Given the description of an element on the screen output the (x, y) to click on. 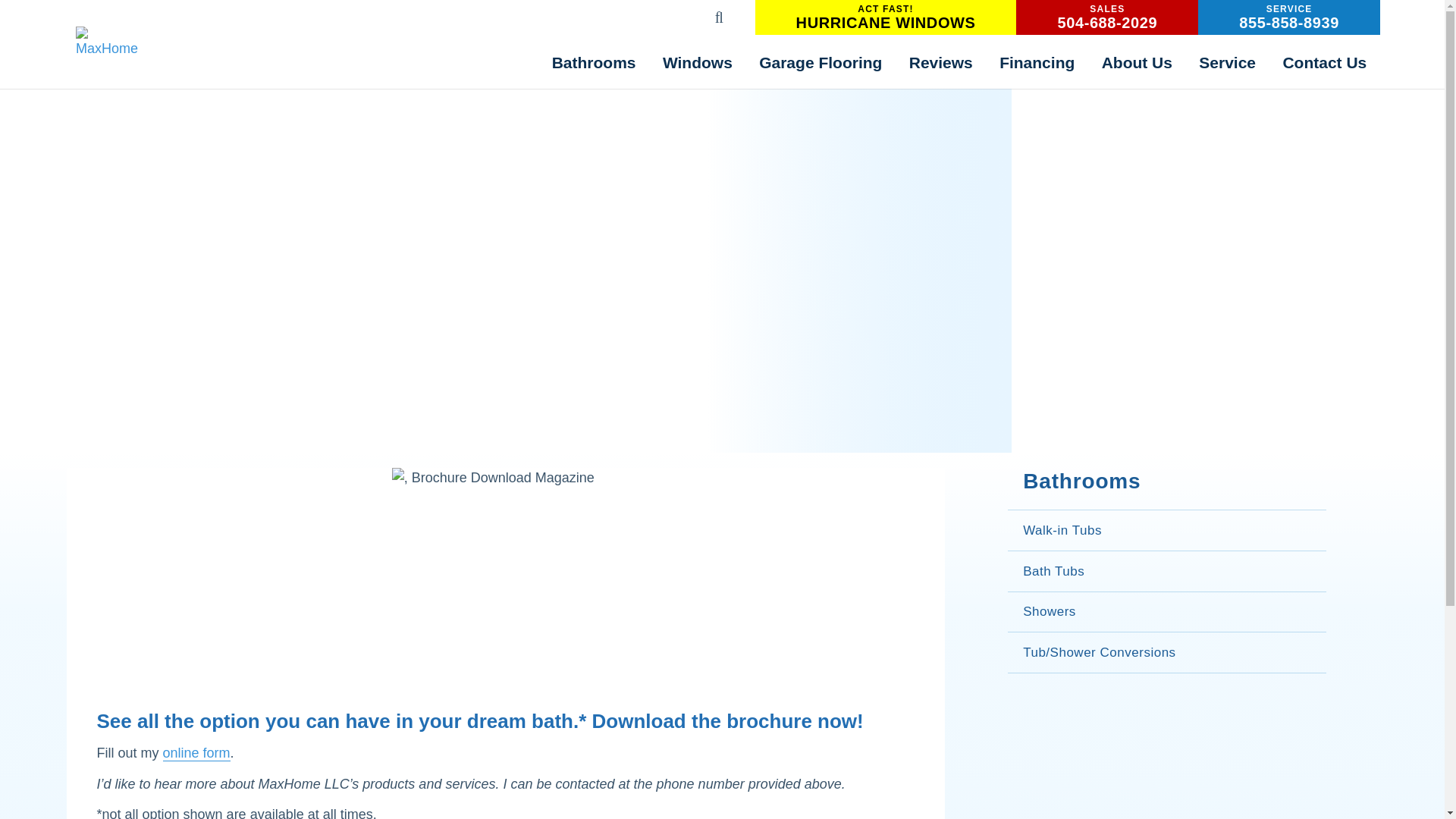
Bathrooms (885, 17)
MaxHome (593, 61)
Search (1107, 17)
Windows (106, 43)
